Given the description of an element on the screen output the (x, y) to click on. 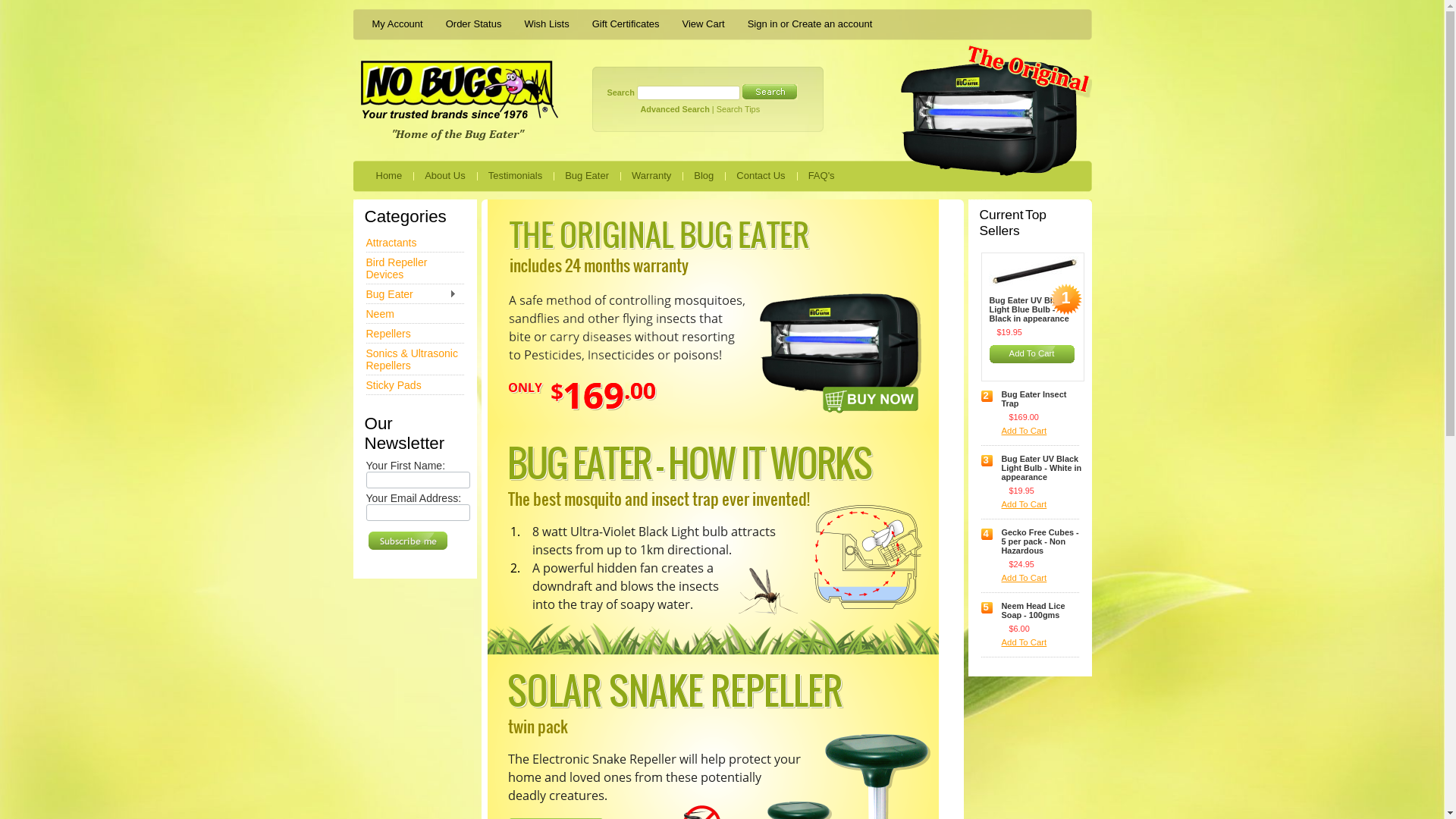
Bug Eater Element type: text (586, 174)
Home Element type: text (388, 174)
Add To Cart Element type: text (1042, 431)
Add To Cart Element type: text (1042, 643)
Bug Eater UV Black Light Blue Bulb - Black in appearance Element type: text (1030, 310)
Sonics & Ultrasonic Repellers Element type: text (414, 359)
Gift Certificates Element type: text (625, 23)
Neem Head Lice Soap - 100gms Element type: text (1042, 611)
About Us Element type: text (444, 174)
Create an account Element type: text (831, 23)
Search Tips Element type: text (737, 108)
Bird Repeller Devices Element type: text (414, 268)
Attractants Element type: text (414, 242)
Add To Cart Element type: text (1042, 505)
Sticky Pads Element type: text (414, 385)
Neem Element type: text (414, 313)
Bug Eater UV Black Light Bulb - White in appearance Element type: text (1042, 468)
Add To Cart Element type: text (1042, 578)
FAQ's Element type: text (821, 174)
Testimonials Element type: text (515, 174)
Repellers Element type: text (414, 333)
Warranty Element type: text (651, 174)
Bug Eater Insect Trap Element type: text (1042, 399)
Sign in Element type: text (762, 23)
Advanced Search Element type: text (674, 108)
Order Status Element type: text (473, 23)
Gecko Free Cubes - 5 per pack - Non Hazardous Element type: text (1042, 542)
Contact Us Element type: text (760, 174)
View Cart Element type: text (702, 23)
Add To Cart Element type: text (1030, 354)
My Account Element type: text (397, 23)
Blog Element type: text (703, 174)
Wish Lists Element type: text (546, 23)
